Given the description of an element on the screen output the (x, y) to click on. 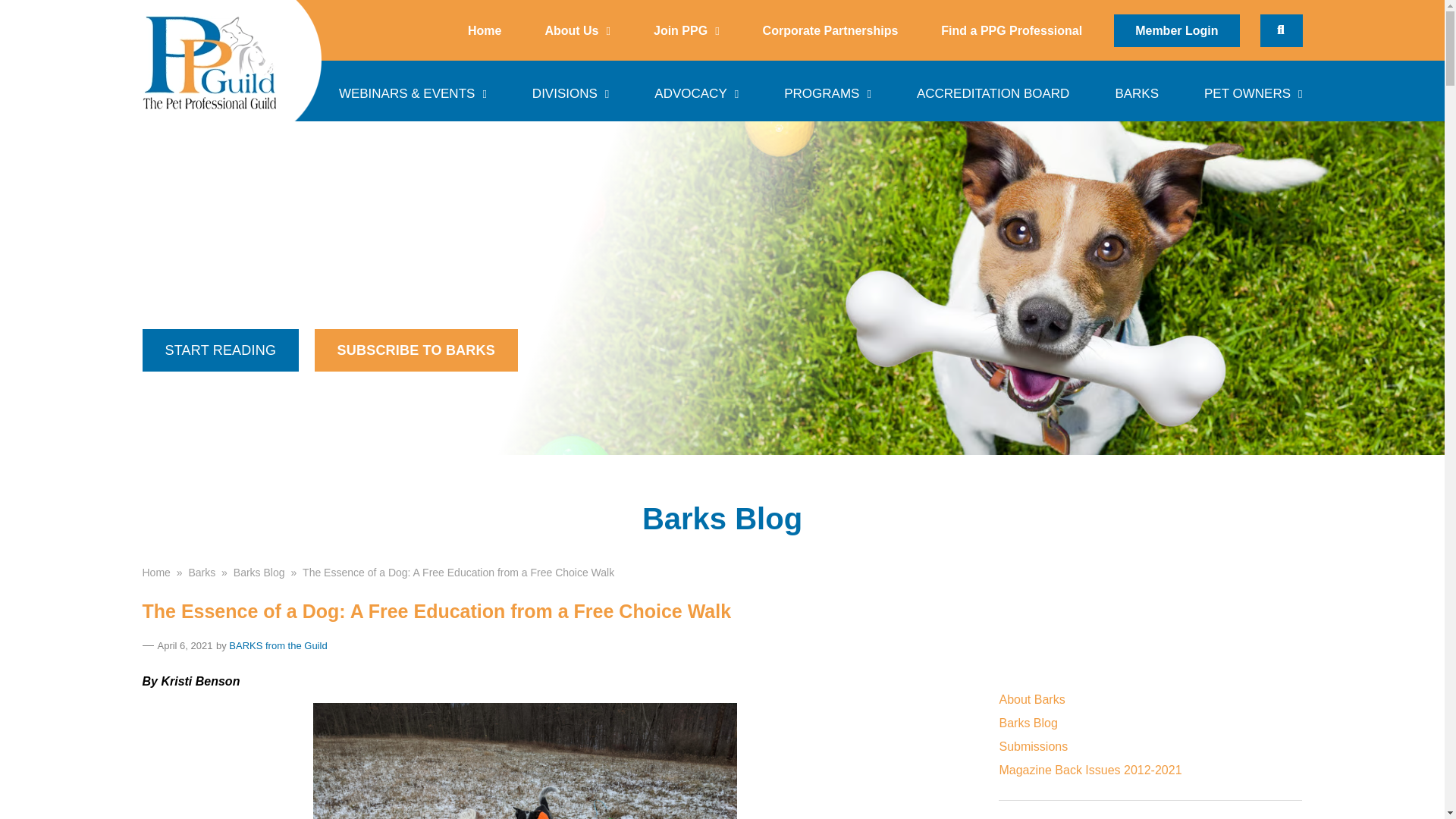
Member Login (1176, 29)
About Us (576, 30)
Find a PPG Professional (1011, 30)
Corporate Partnerships (830, 30)
DIVISIONS (570, 90)
Join PPG (686, 30)
Home (484, 30)
Go to Barks Blog. (258, 571)
Go to Pet Professional Guild. (156, 571)
Go to Barks. (201, 571)
